Given the description of an element on the screen output the (x, y) to click on. 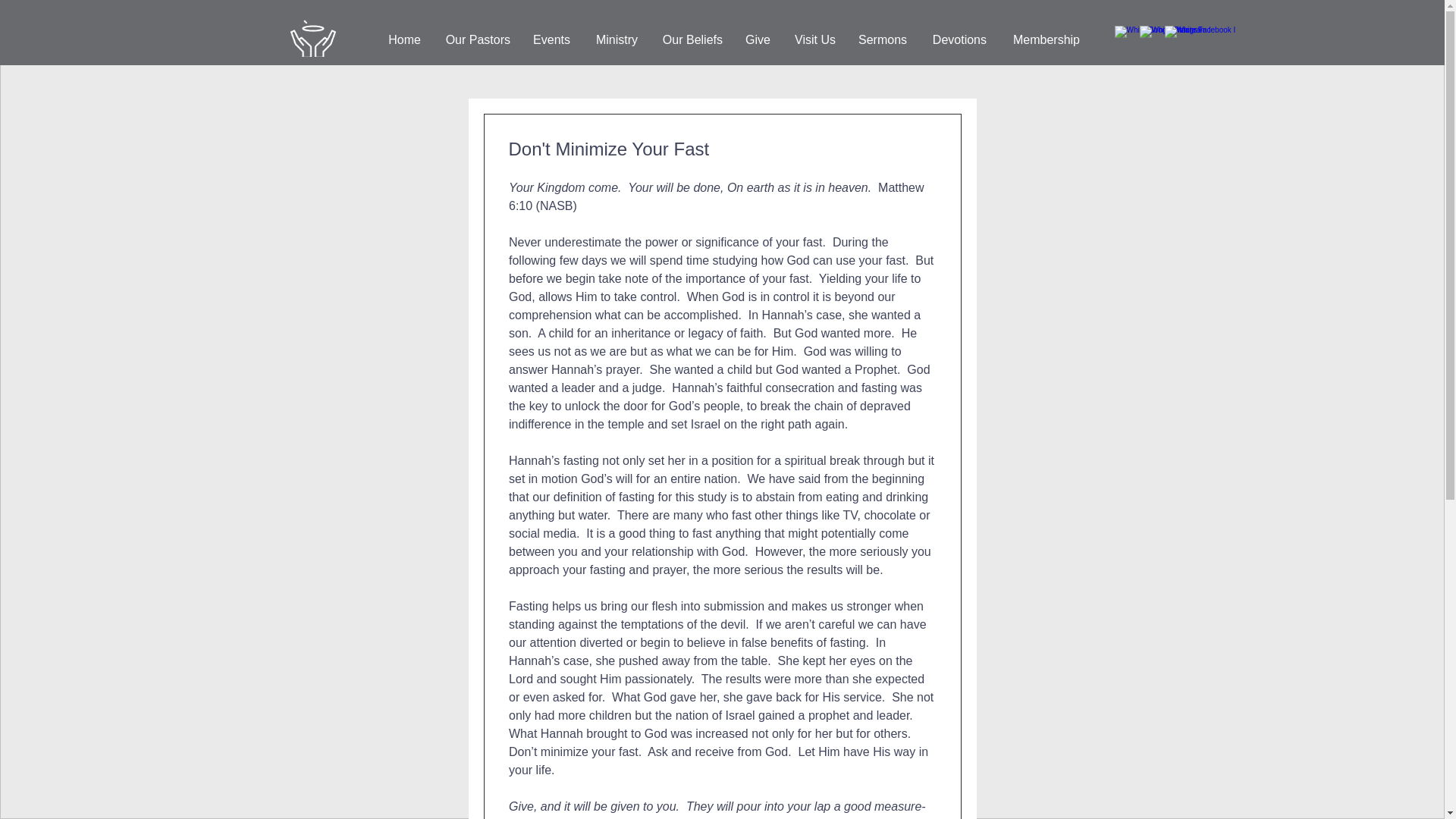
Give (757, 40)
Our Beliefs (691, 40)
Our Pastors (476, 40)
Devotions (957, 40)
Home (403, 40)
Visit Us (814, 40)
Sermons (882, 40)
Events (550, 40)
Ministry (614, 40)
Membership (1043, 40)
